Given the description of an element on the screen output the (x, y) to click on. 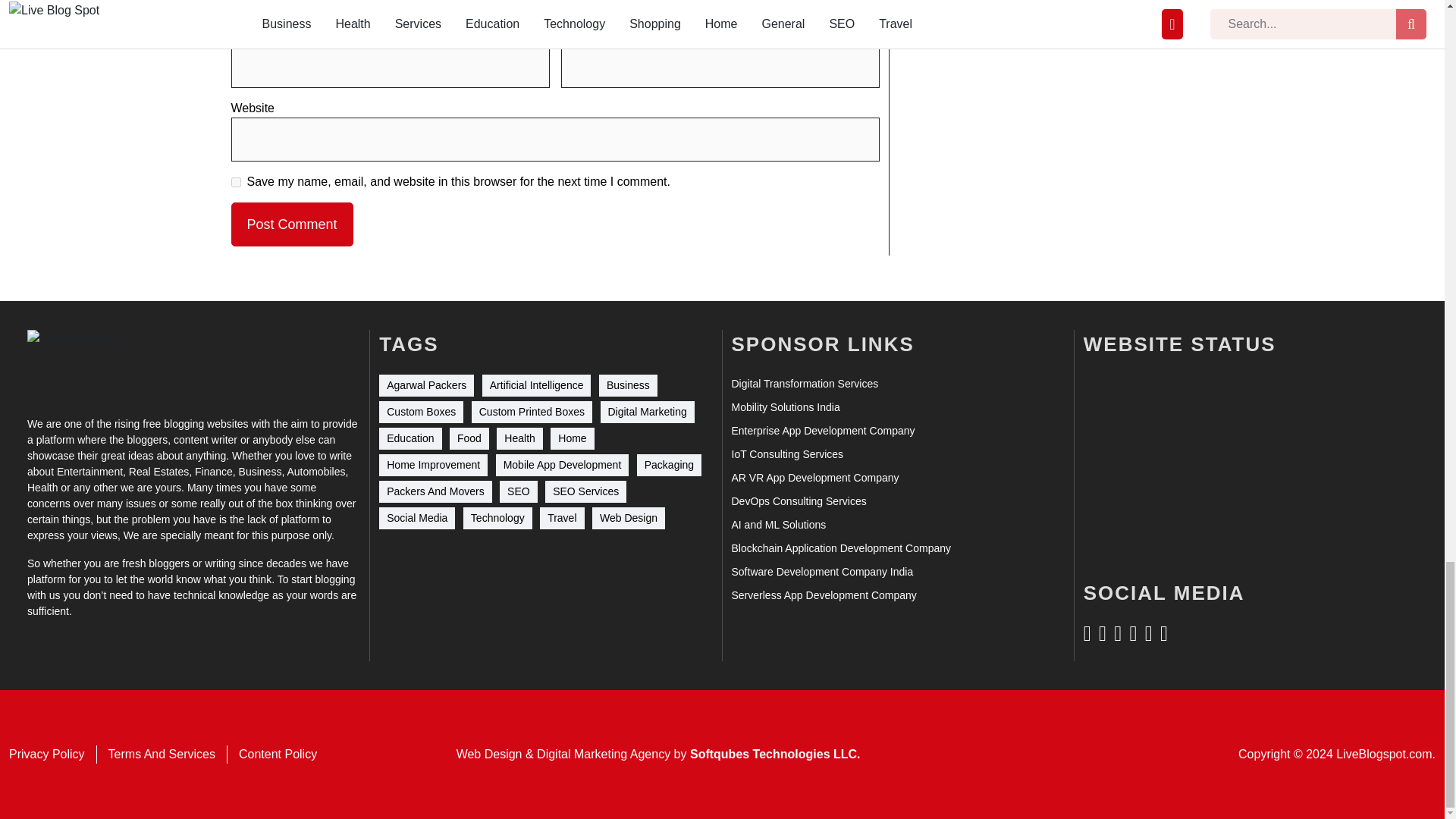
DevOps Consulting Services (798, 501)
Mobility Solutions India (785, 407)
Enterprise App Development Company (822, 430)
AR VR App Development Company (814, 478)
Digital Transformation Services (803, 383)
IoT Consulting Services (786, 454)
yes (235, 182)
Post Comment (291, 224)
Post Comment (291, 224)
Live Blog Spot (81, 363)
